Given the description of an element on the screen output the (x, y) to click on. 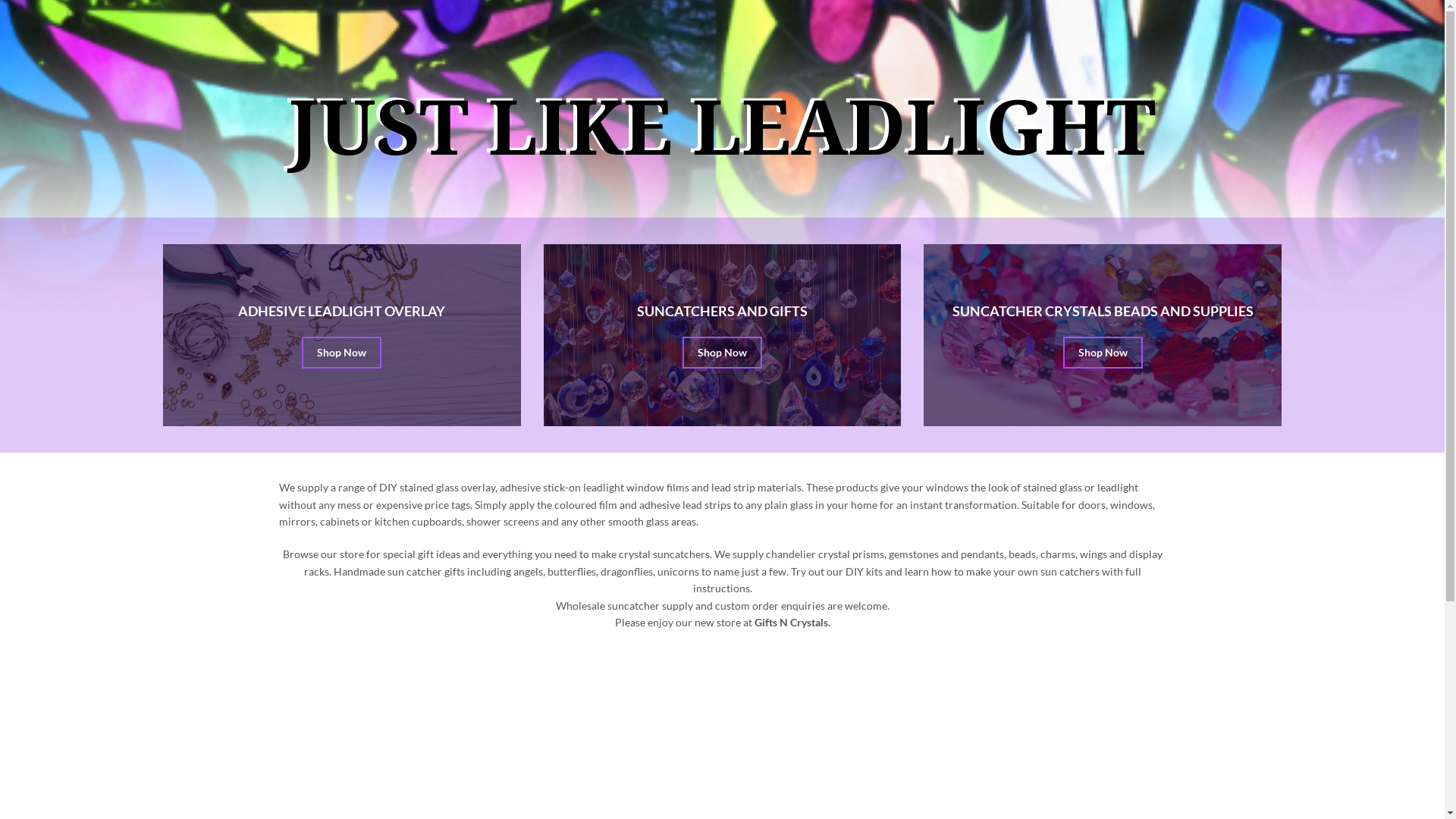
Shop Now Element type: text (341, 352)
Shop Now Element type: text (1102, 352)
Shop Now Element type: text (722, 352)
